Given the description of an element on the screen output the (x, y) to click on. 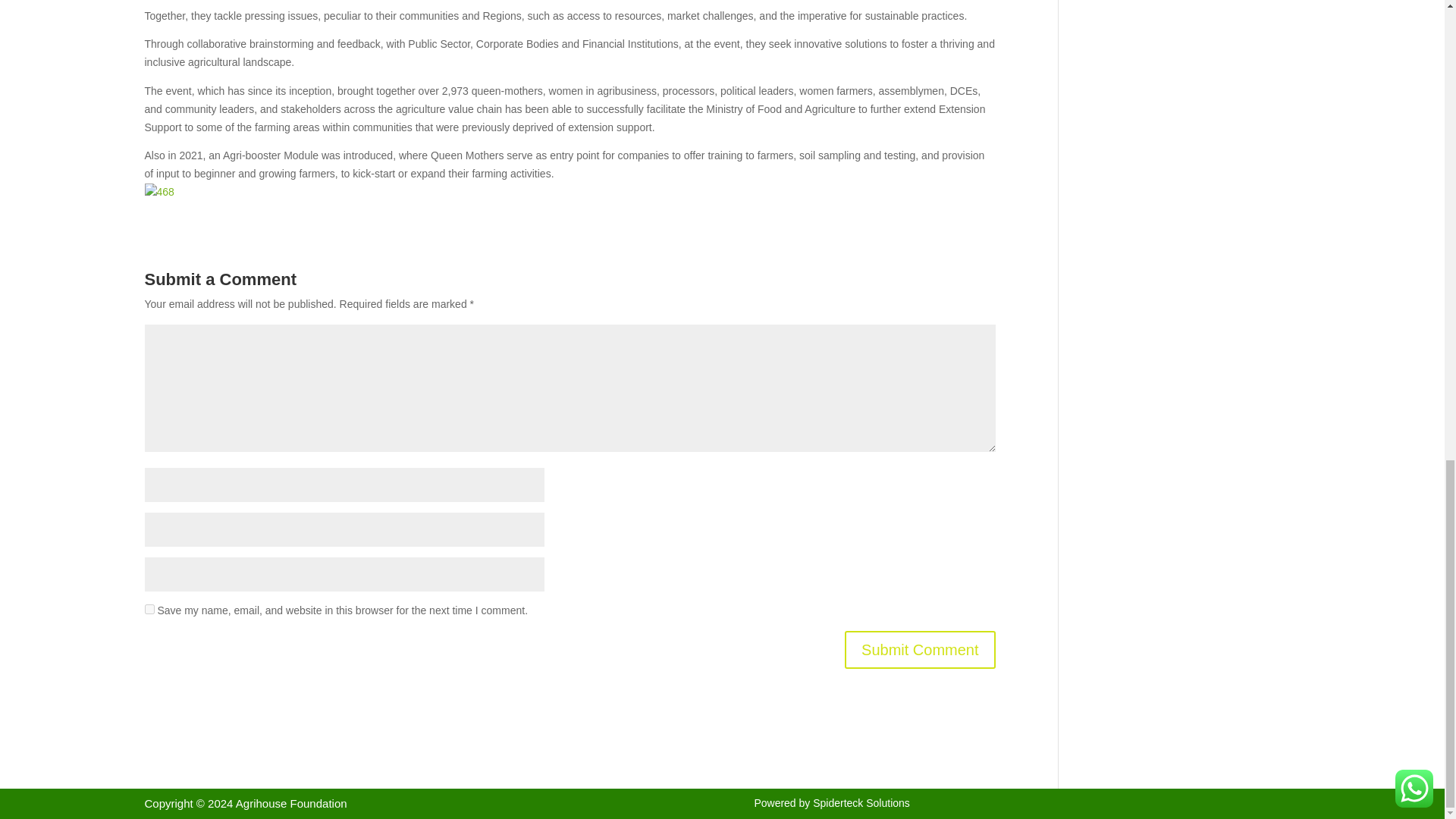
yes (149, 609)
Submit Comment (919, 649)
